Given the description of an element on the screen output the (x, y) to click on. 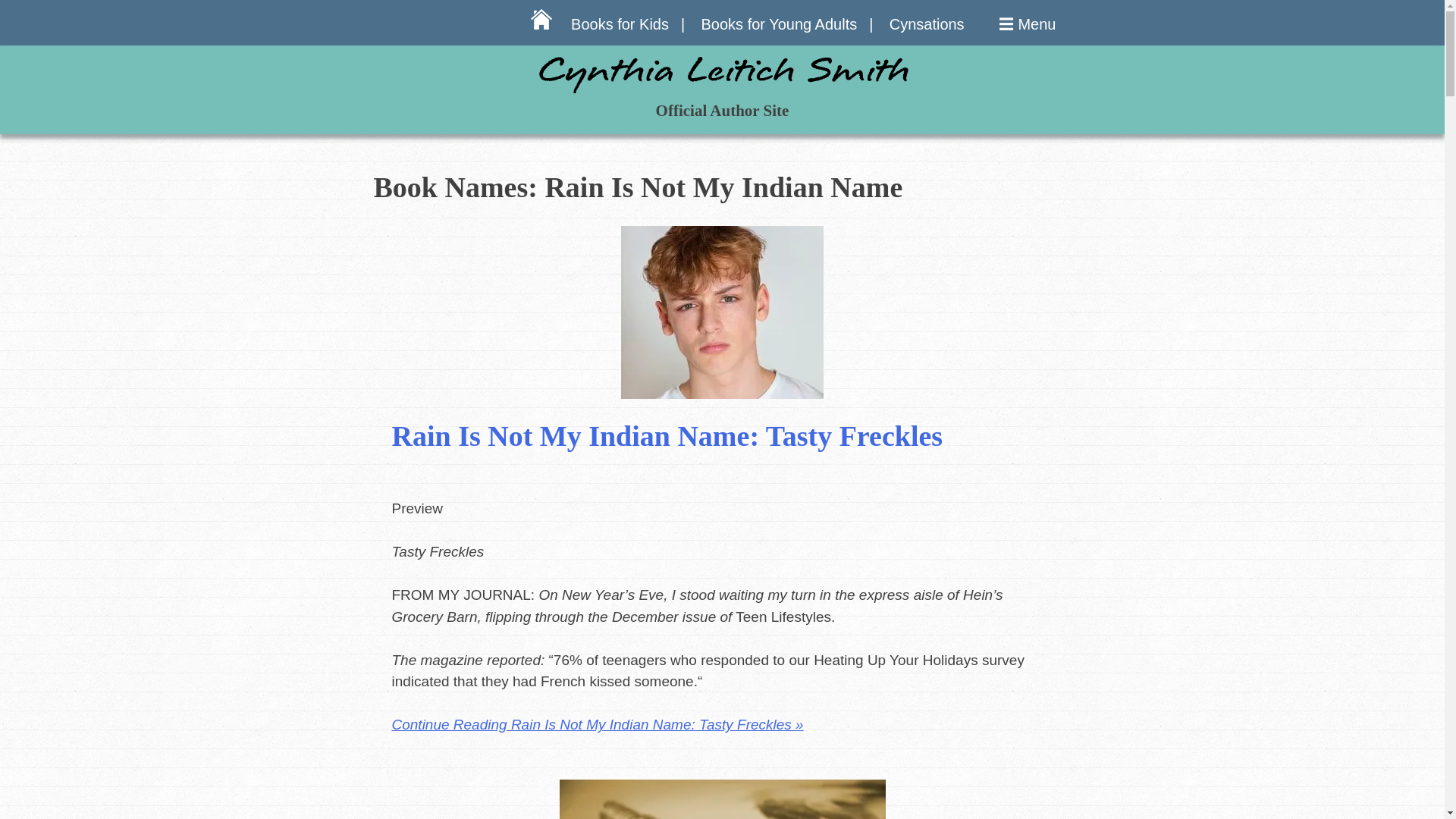
Cynsations (926, 24)
Rain Is Not My Indian Name: Tasty Freckles (666, 436)
Books for Young Adults (786, 24)
Books for Kids (627, 24)
